Given the description of an element on the screen output the (x, y) to click on. 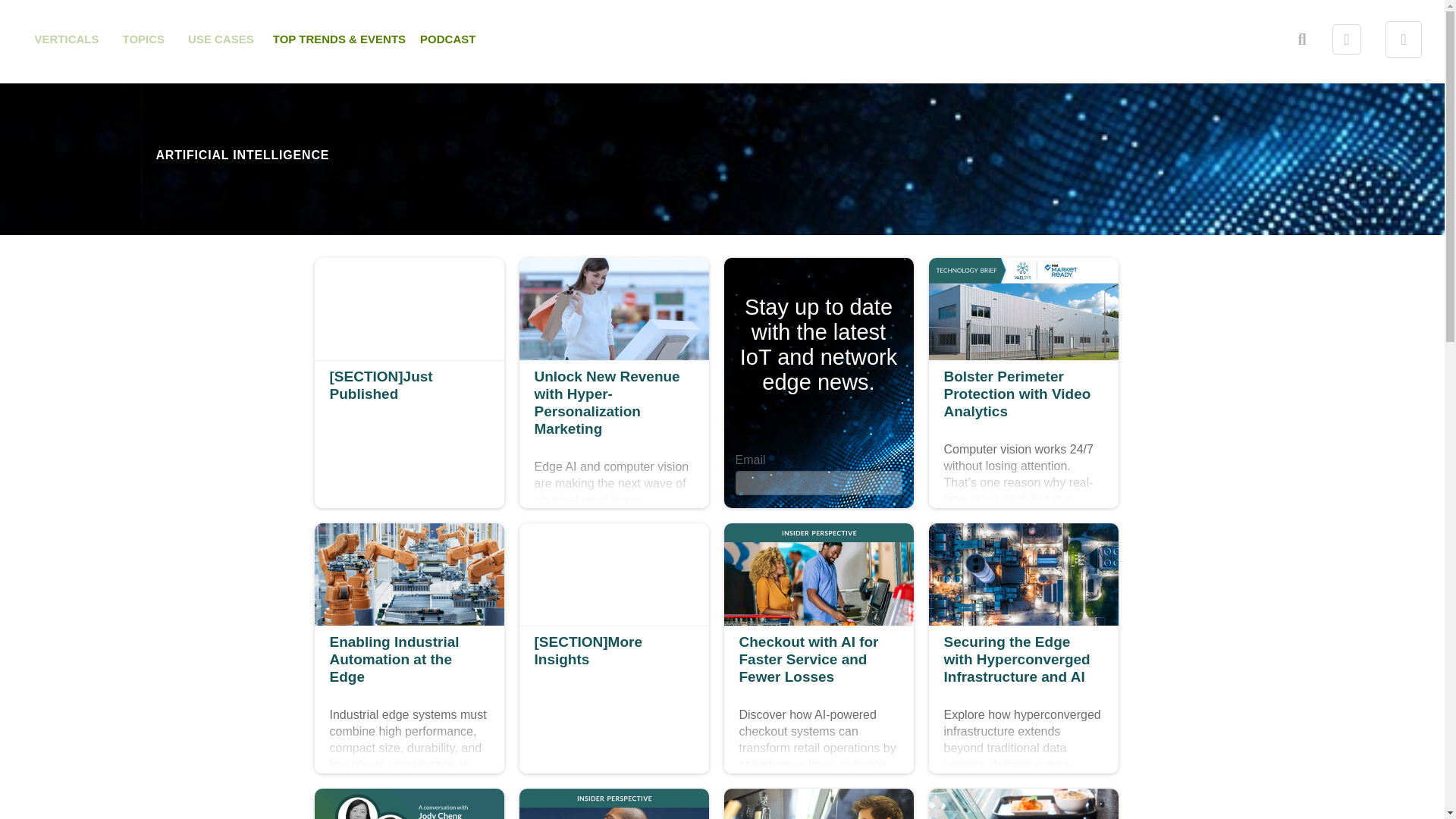
Share this Stream (1346, 39)
Open Locale Selector Menu (1404, 39)
Open search box (143, 39)
Share this Stream (221, 39)
Open Search Box (1302, 39)
PODCAST (1346, 39)
